Given the description of an element on the screen output the (x, y) to click on. 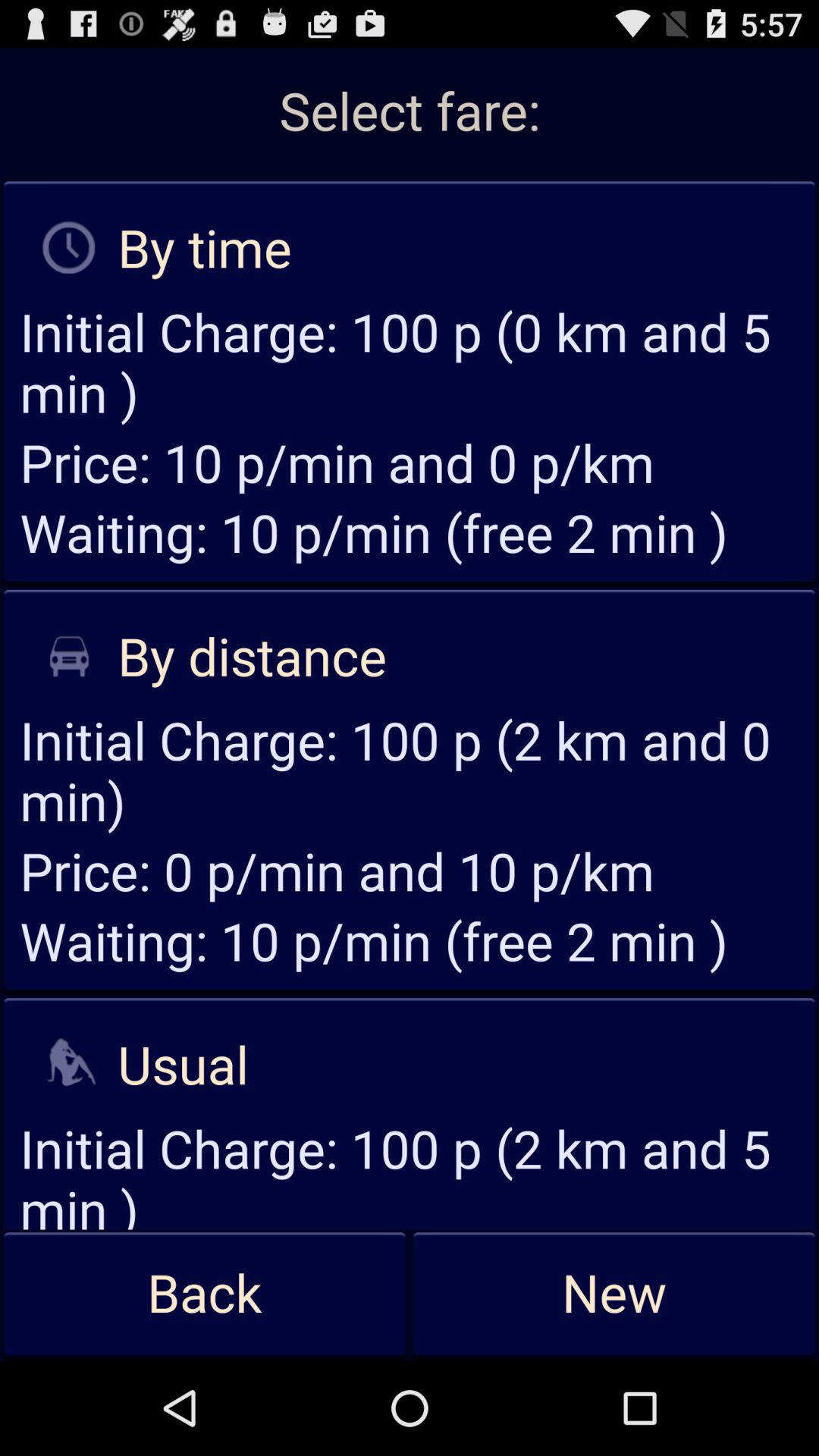
press app next to the back app (614, 1294)
